Given the description of an element on the screen output the (x, y) to click on. 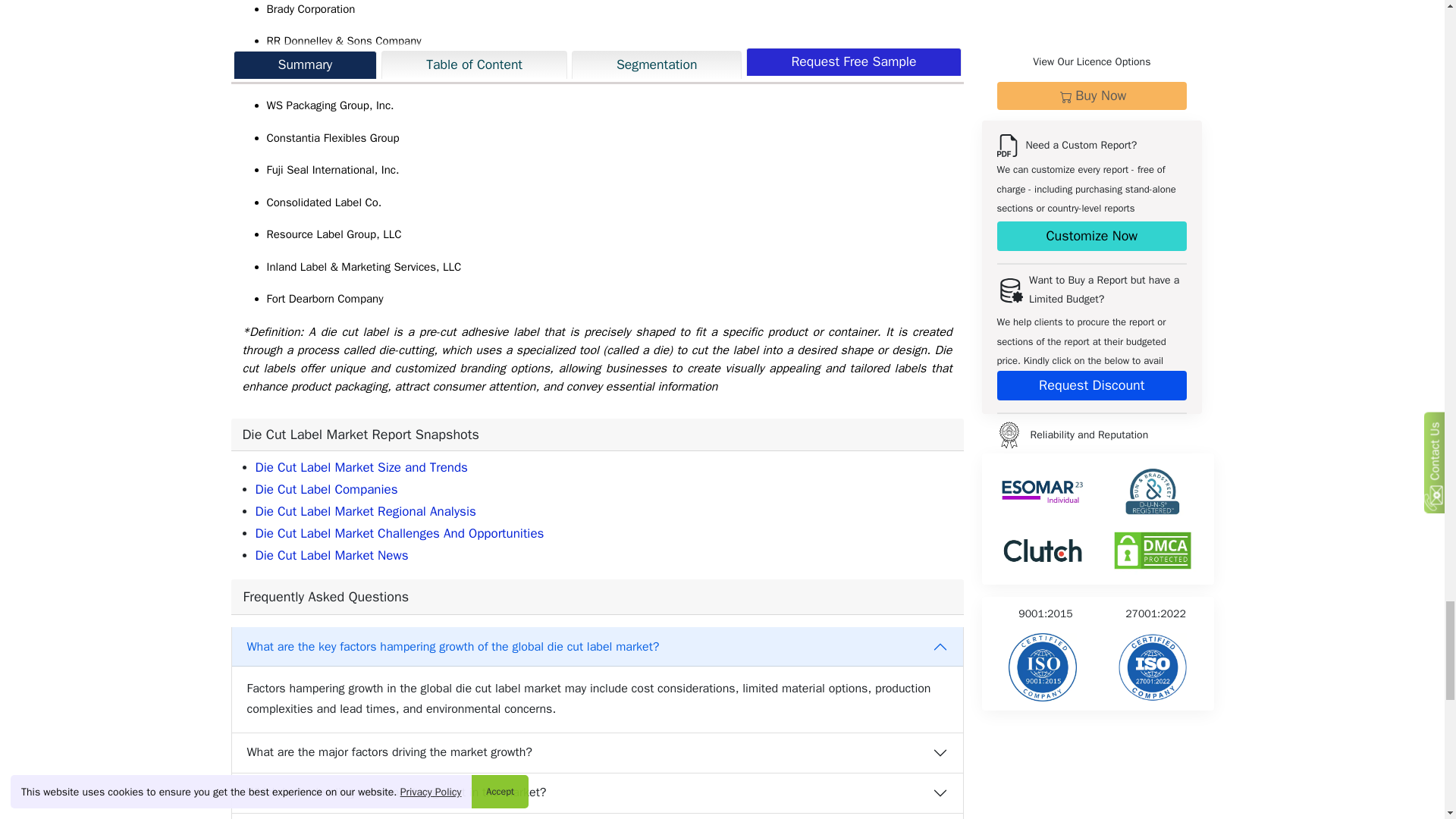
Die Cut Label Market Market News (330, 555)
Die Cut Label Market Market Size and Trends (360, 467)
Die Cut Label Market Companies (325, 489)
Die Cut Label Market Market Regional Insights (365, 511)
Die Cut Label Market Market Challenges And Opportunities (398, 533)
